Given the description of an element on the screen output the (x, y) to click on. 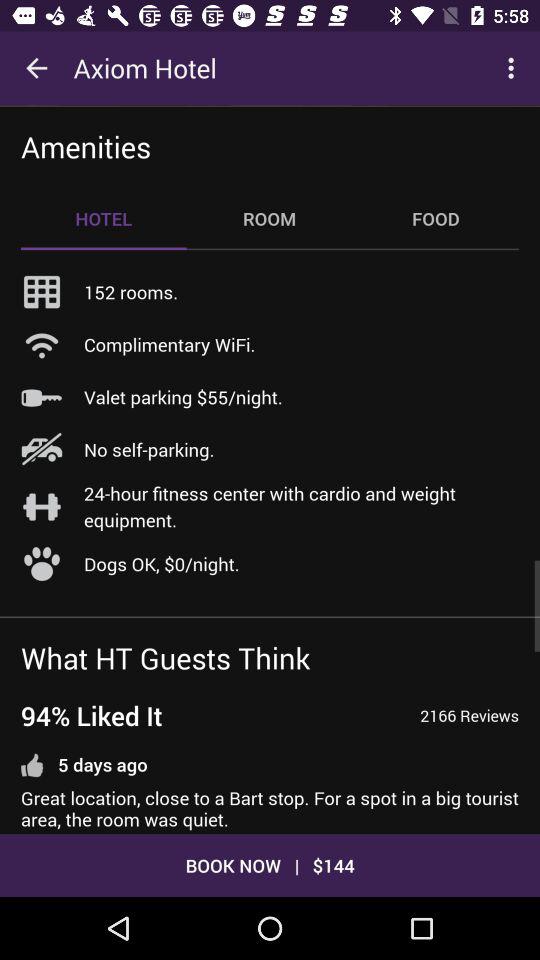
launch the icon above the hotel item (86, 146)
